Given the description of an element on the screen output the (x, y) to click on. 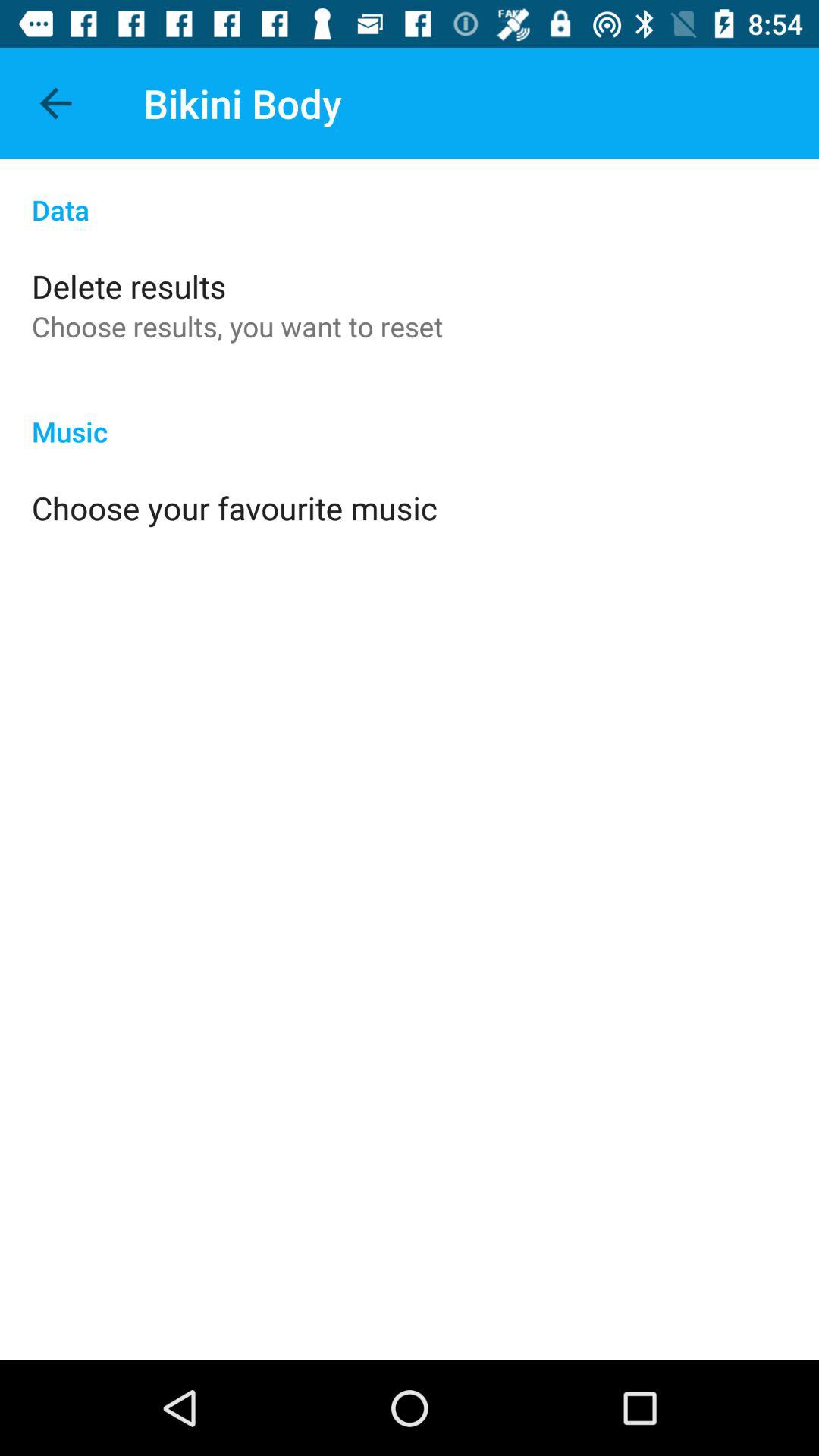
flip to the delete results item (128, 285)
